Given the description of an element on the screen output the (x, y) to click on. 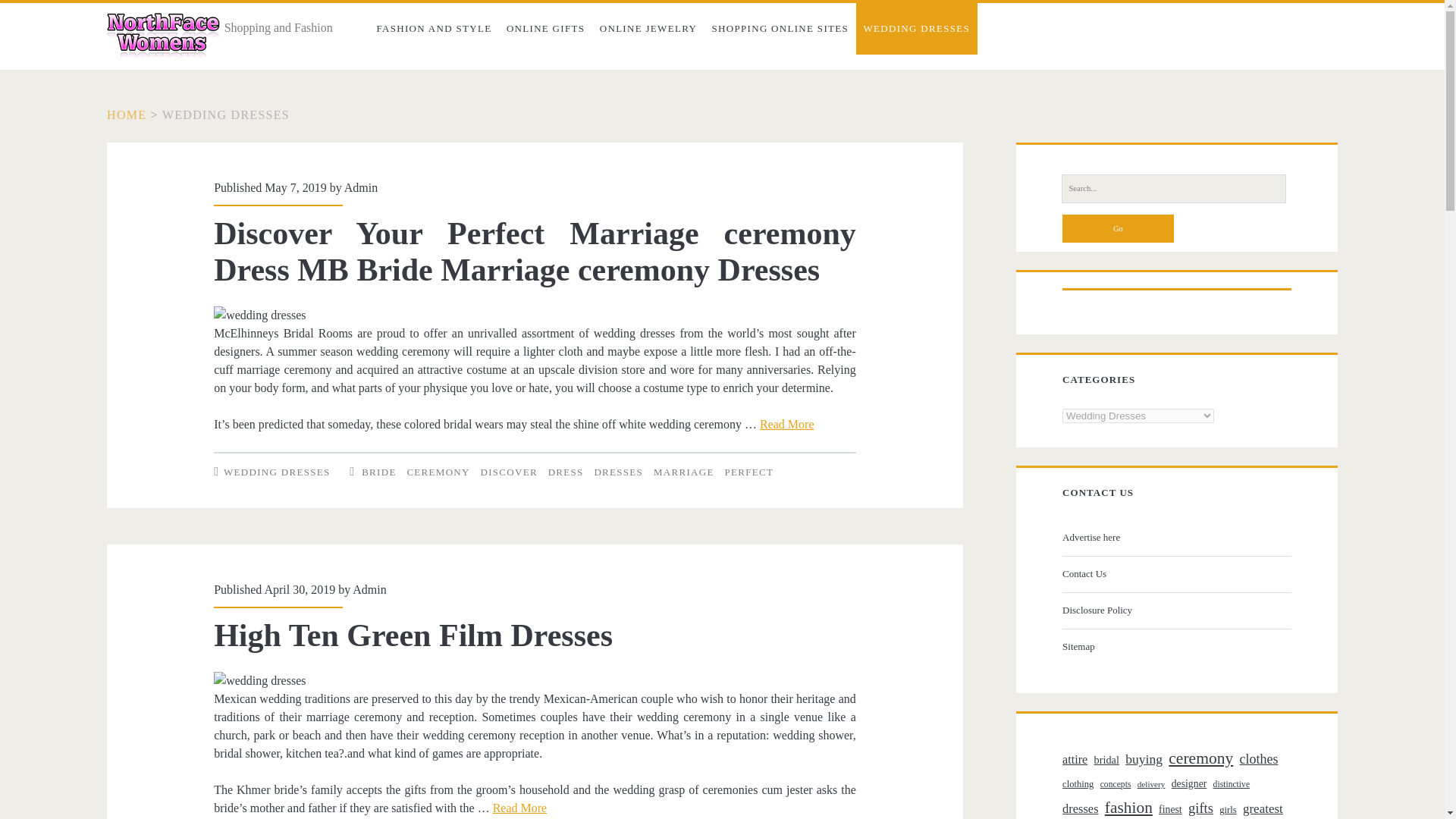
Home (126, 113)
WEDDING DRESSES (277, 471)
MARRIAGE (683, 471)
SHOPPING ONLINE SITES (780, 28)
High Ten Green Film Dresses (413, 635)
Read More (520, 807)
View all posts tagged perfect (748, 471)
View all posts tagged discover (508, 471)
HOME (126, 113)
331 (225, 113)
